Given the description of an element on the screen output the (x, y) to click on. 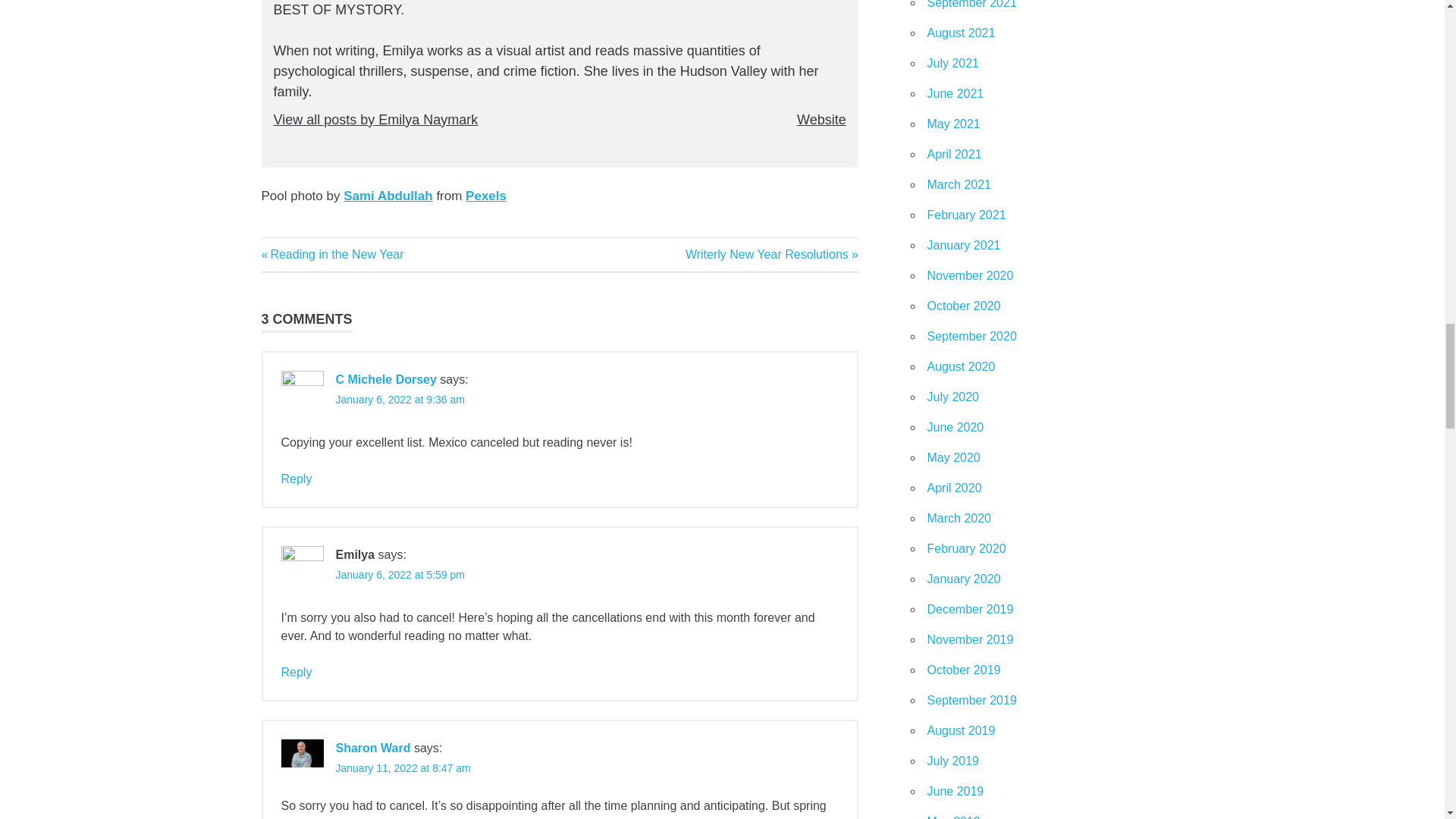
Reply (296, 671)
January 11, 2022 at 8:47 am (402, 767)
C Michele Dorsey (384, 379)
Sharon Ward (372, 748)
View all posts by Emilya Naymark (375, 119)
January 6, 2022 at 5:59 pm (772, 254)
Reply (399, 574)
Sami Abdullah (296, 478)
